Given the description of an element on the screen output the (x, y) to click on. 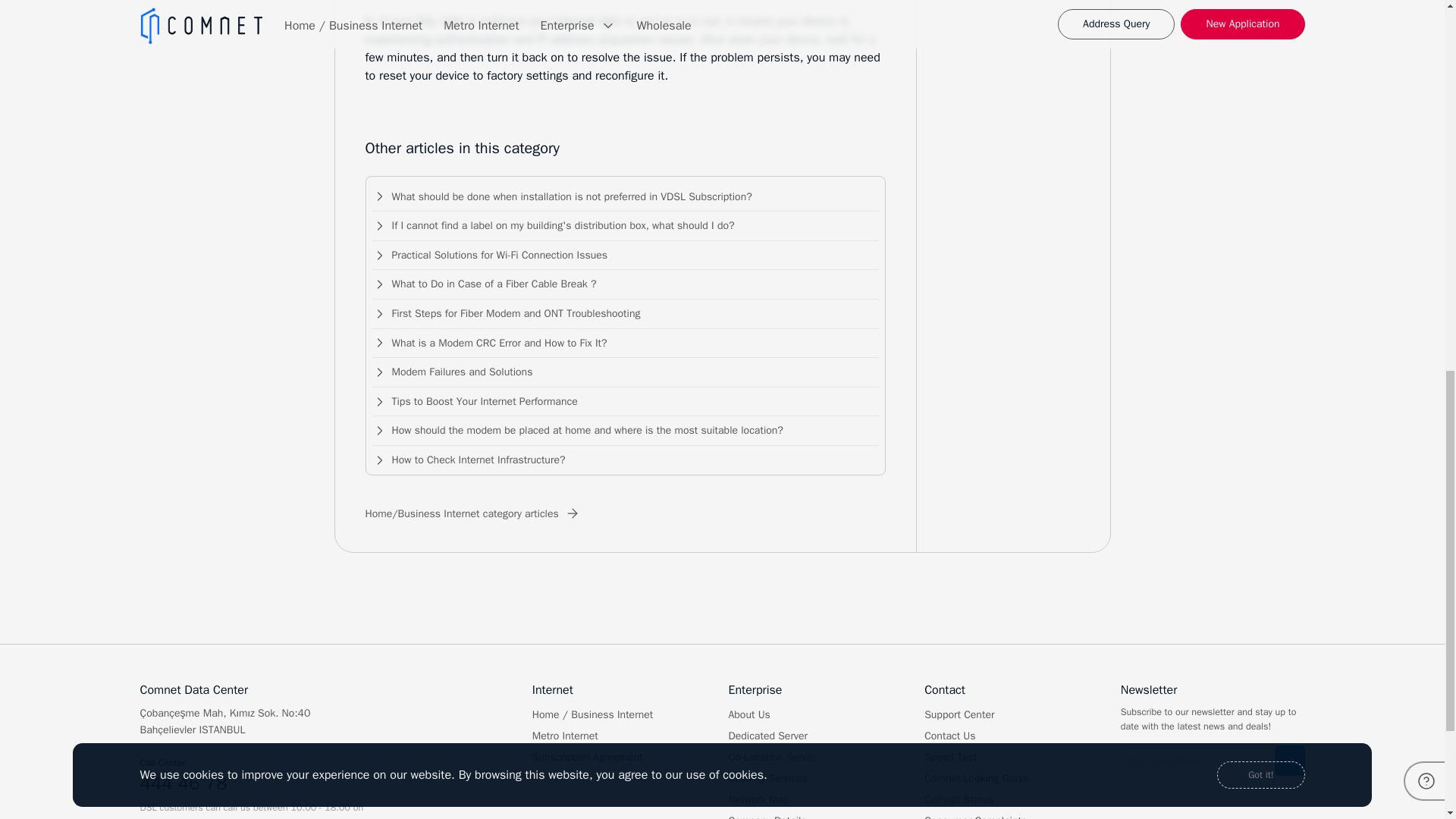
Modem Failures and Solutions (625, 372)
Tips to Boost Your Internet Performance (625, 401)
What to Do in Case of a Fiber Cable Break ? (625, 284)
First Steps for Fiber Modem and ONT Troubleshooting (625, 314)
Practical Solutions for Wi-Fi Connection Issues (625, 255)
What is a Modem CRC Error and How to Fix It? (625, 343)
How to Check Internet Infrastructure? (625, 456)
